Given the description of an element on the screen output the (x, y) to click on. 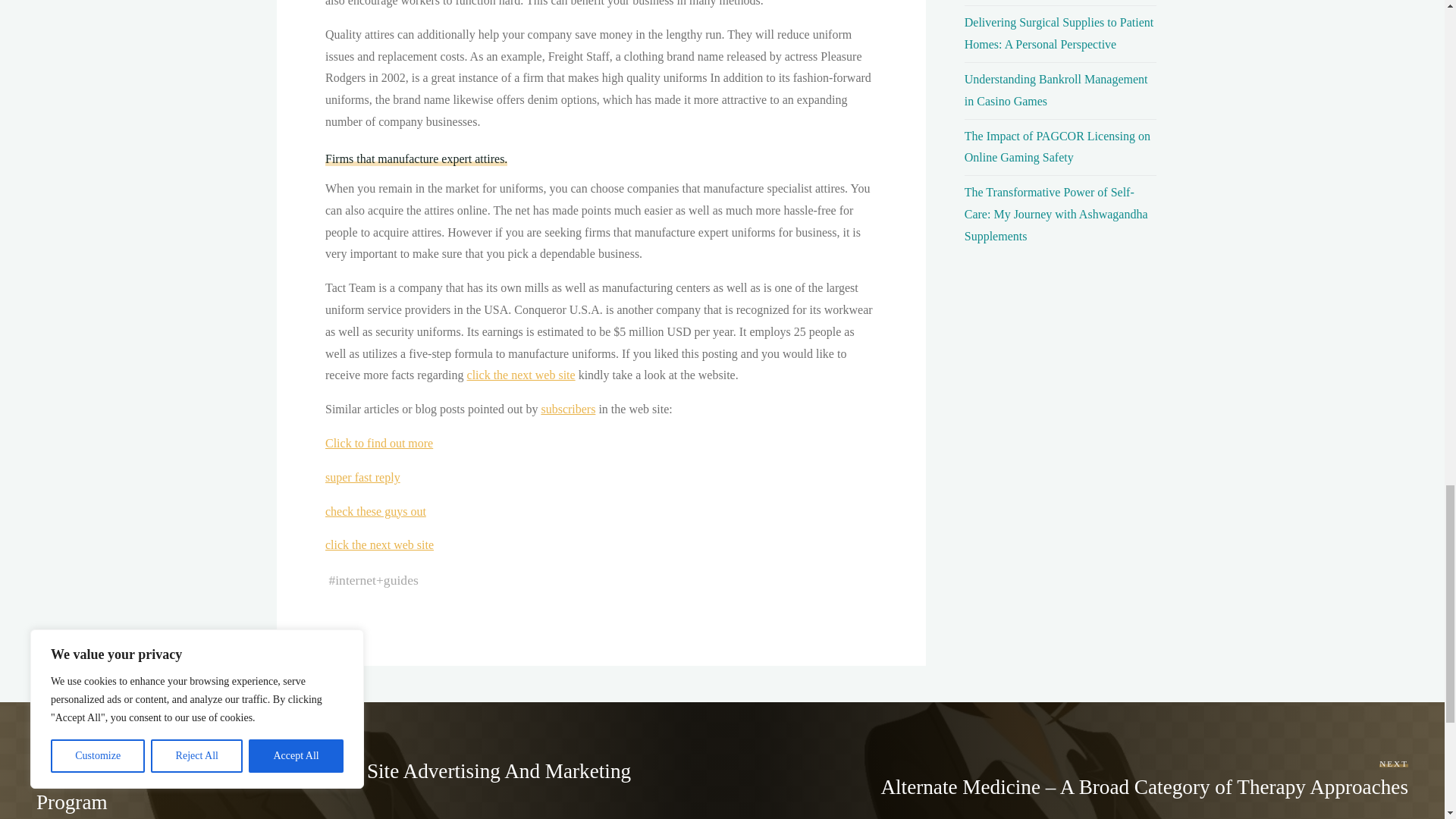
super fast reply (361, 477)
subscribers (567, 408)
click the next web site (520, 374)
Click to find out more (378, 442)
check these guys out (374, 511)
click the next web site (378, 544)
